Given the description of an element on the screen output the (x, y) to click on. 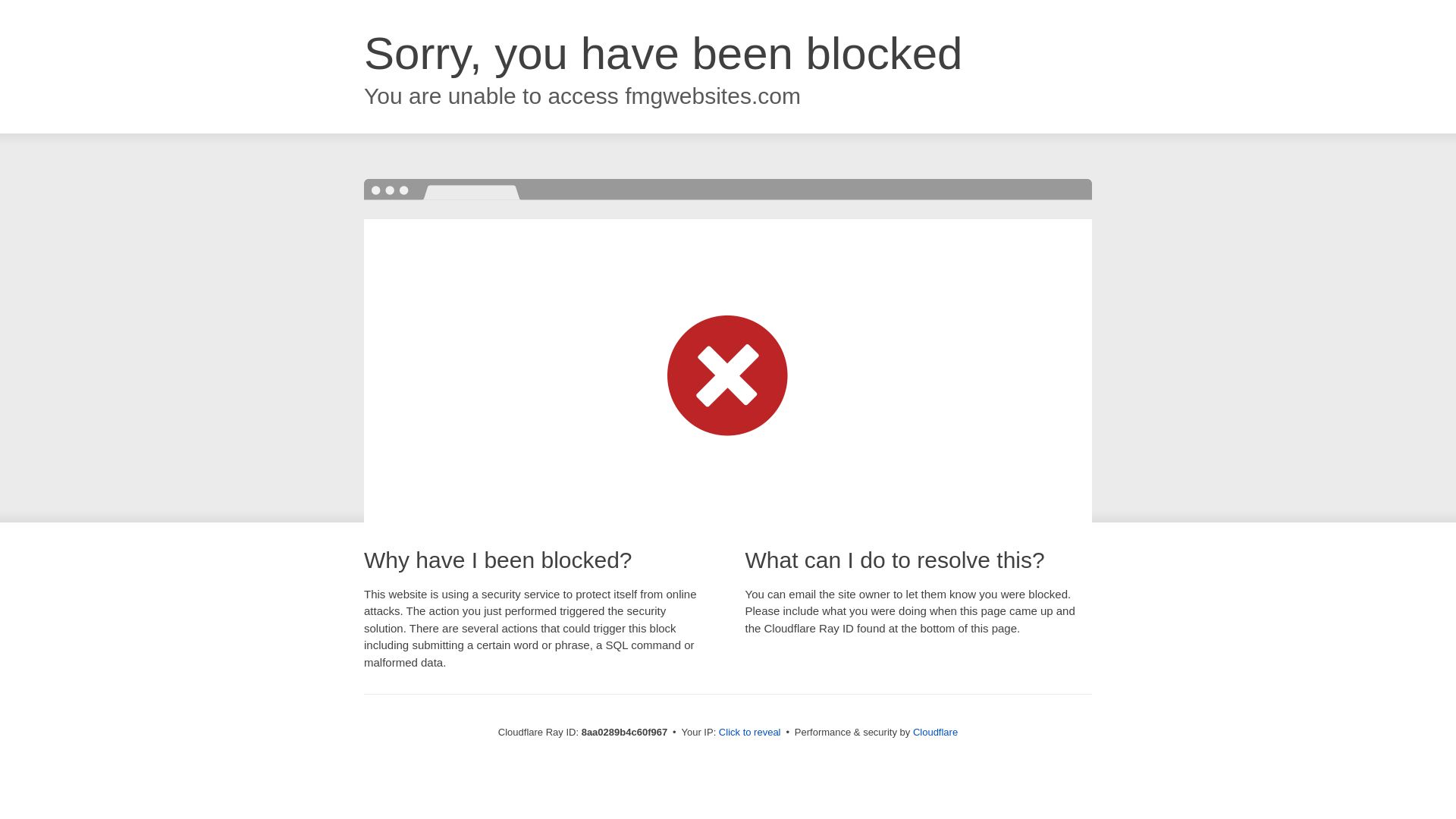
Cloudflare (935, 731)
Click to reveal (749, 732)
